Given the description of an element on the screen output the (x, y) to click on. 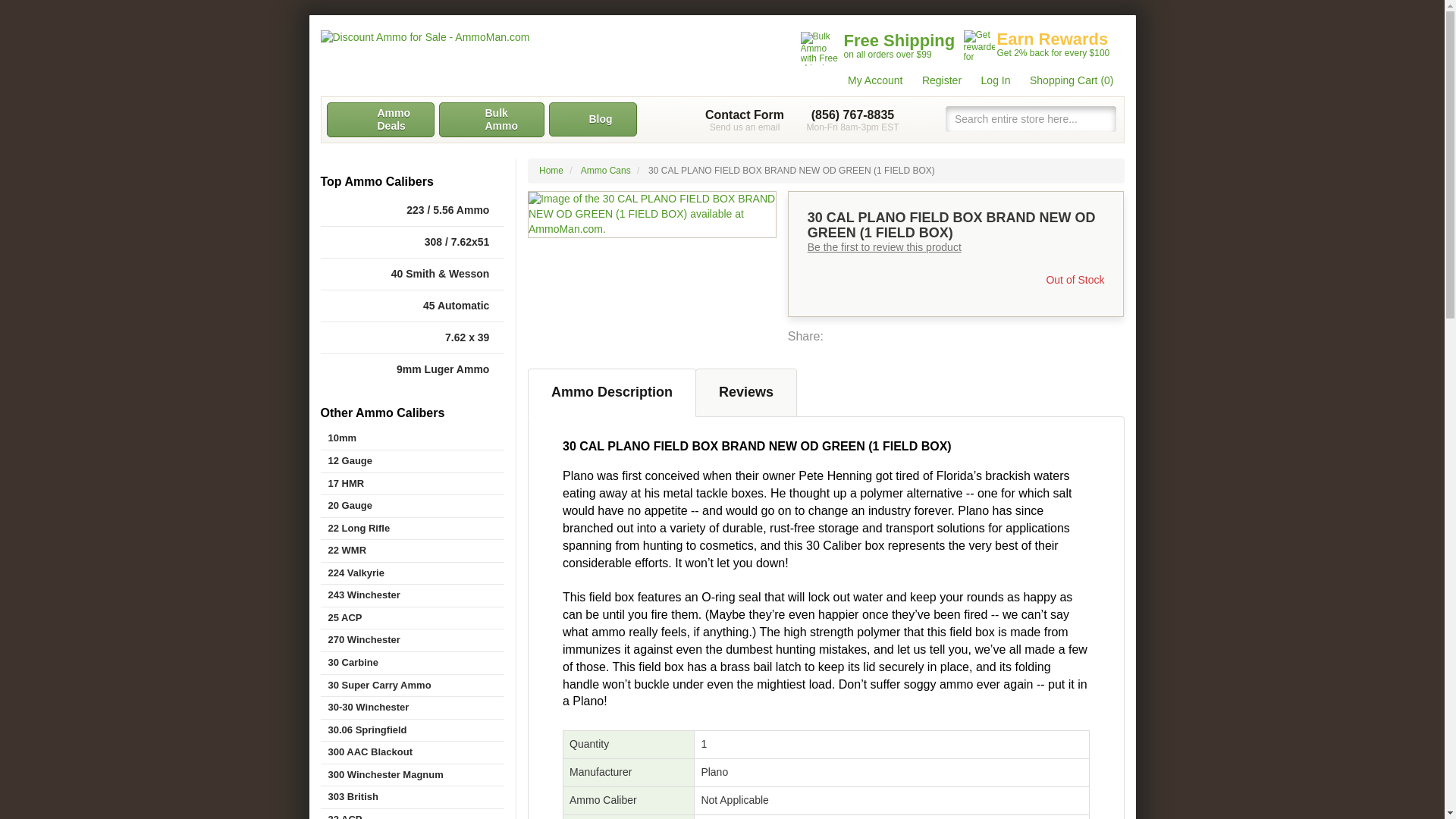
Discount Ammo Deals - Ammo on Sale (379, 119)
Free Shipping on Bulk Ammo (879, 48)
Register (933, 80)
Be the first to review this product (884, 246)
12 Gauge (411, 461)
17 HMR (411, 484)
Bulk Ammo (490, 119)
Log In (988, 80)
Log In (988, 80)
Bulk Ammo (490, 119)
7.62 x 39 (744, 119)
Register (411, 337)
Blog (933, 80)
My Account (592, 119)
